Given the description of an element on the screen output the (x, y) to click on. 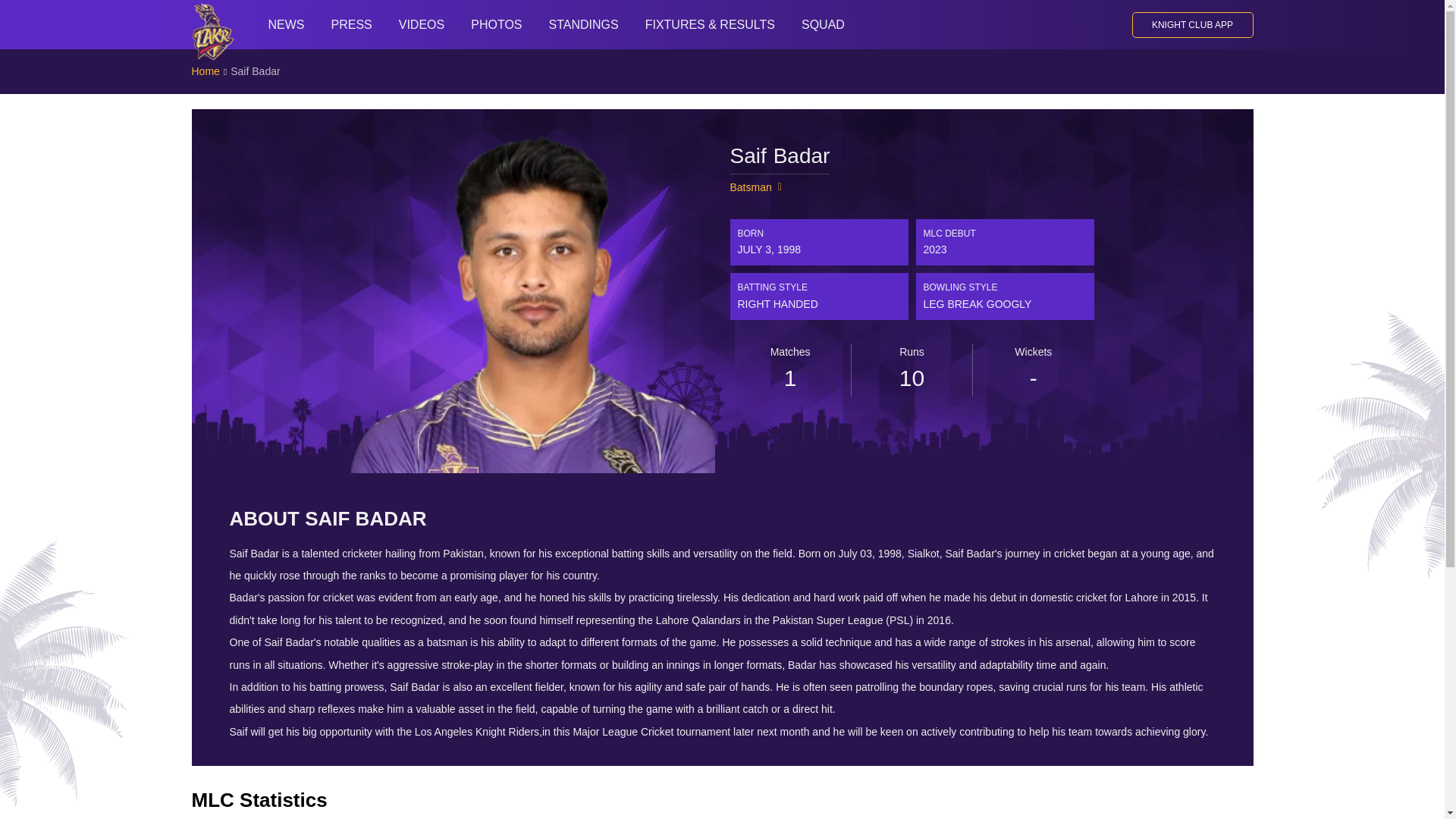
 Knight Club App (1191, 24)
PRESS (350, 24)
NEWS (286, 24)
Photos (496, 24)
STANDINGS (583, 24)
News (286, 24)
Press (350, 24)
SQUAD (822, 24)
VIDEOS (421, 24)
PHOTOS (496, 24)
KNIGHT CLUB APP (1191, 24)
Videos (421, 24)
Home (204, 70)
